Given the description of an element on the screen output the (x, y) to click on. 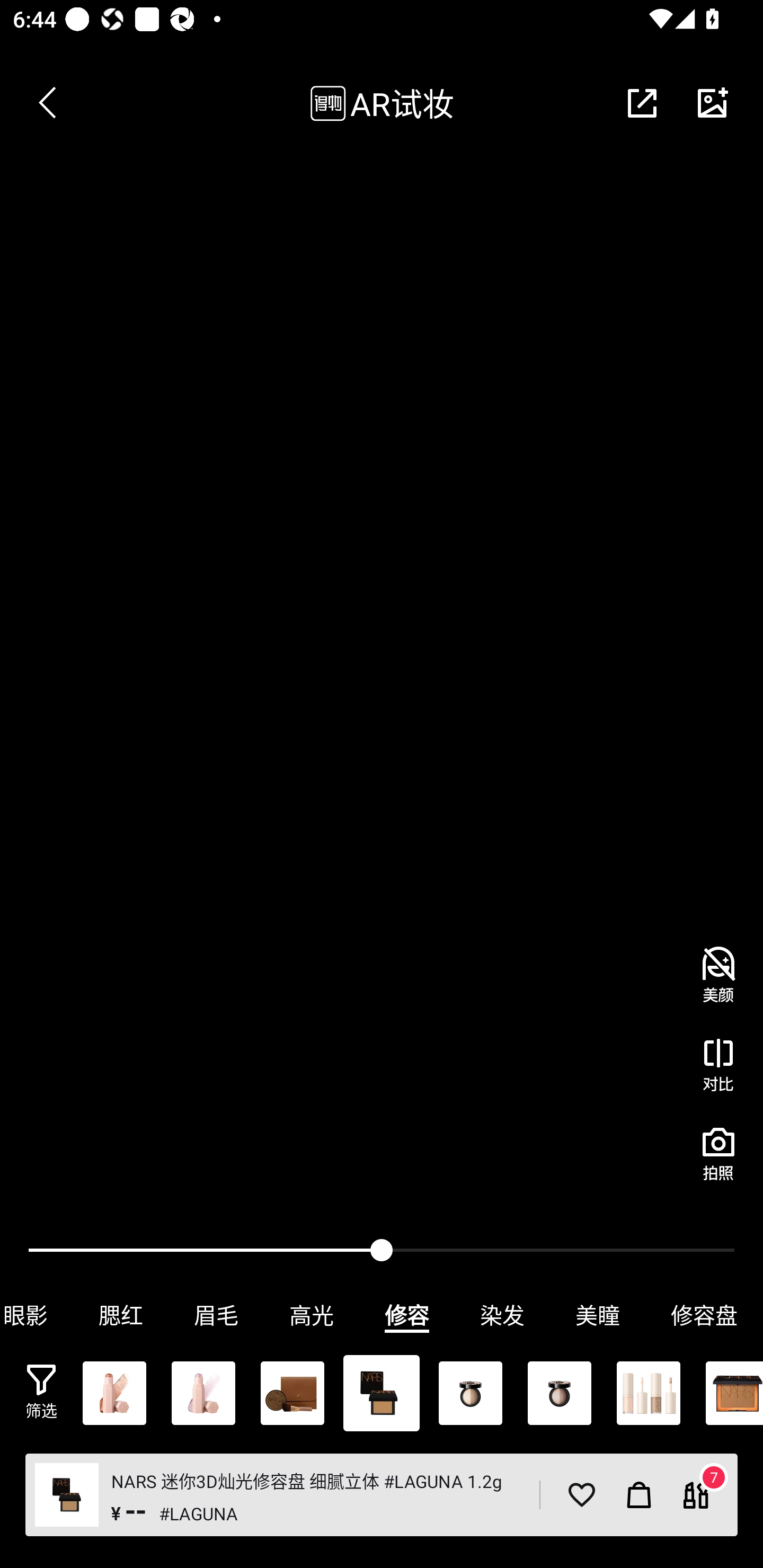
眼影 (36, 1315)
腮红 (120, 1315)
眉毛 (215, 1315)
高光 (311, 1315)
修容 (406, 1315)
染发 (502, 1315)
美瞳 (597, 1315)
修容盘 (704, 1315)
筛选 (41, 1392)
NARS 迷你3D灿光修容盘 细腻立体 #LAGUNA 1.2g ¥ -- #LAGUNA 7 (381, 1494)
